Given the description of an element on the screen output the (x, y) to click on. 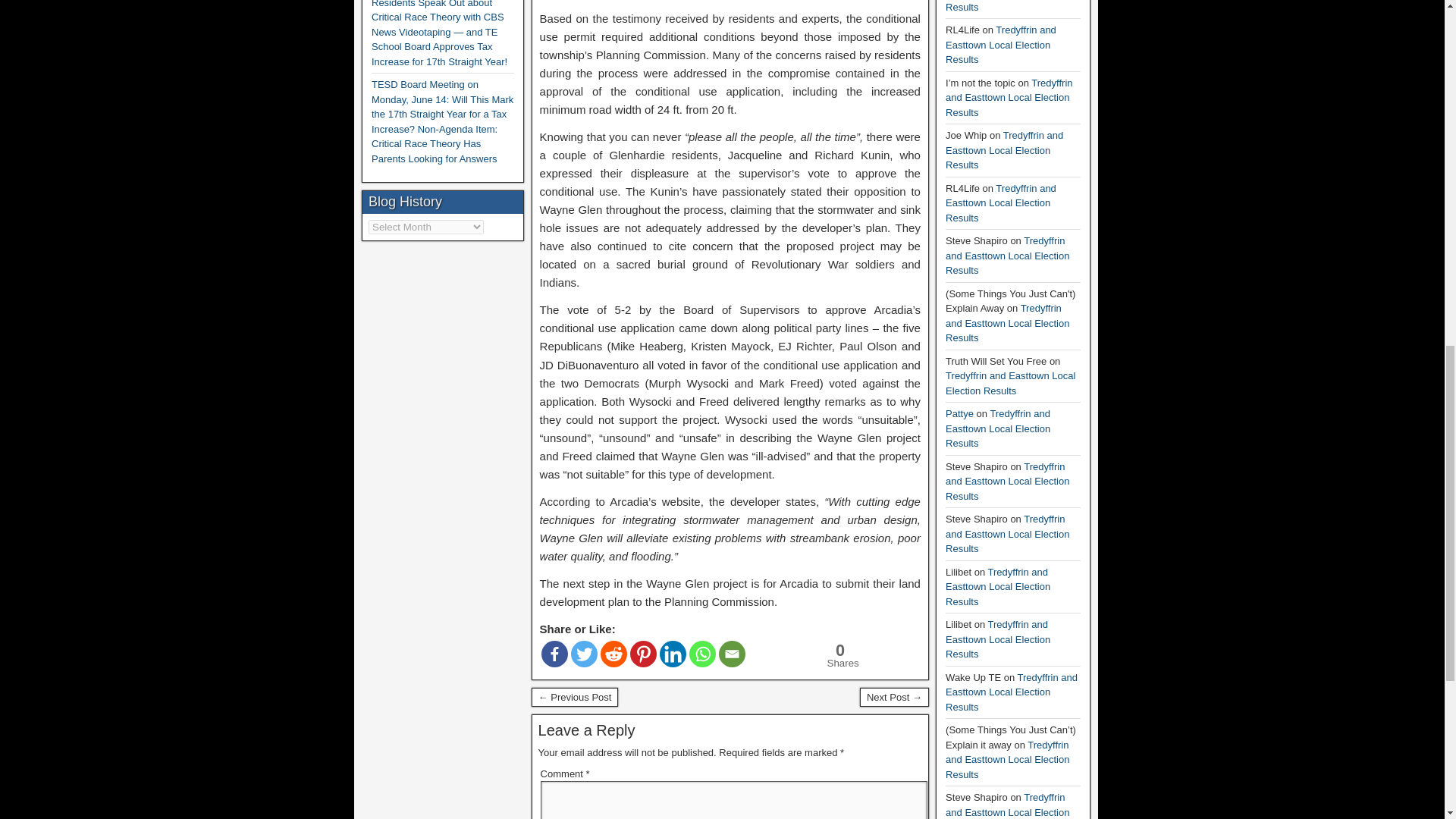
Reddit (613, 653)
Whatsapp (702, 653)
Email (732, 653)
Facebook (554, 653)
Pinterest (643, 653)
Twitter (583, 653)
Linkedin (672, 653)
Total Shares (838, 655)
